Given the description of an element on the screen output the (x, y) to click on. 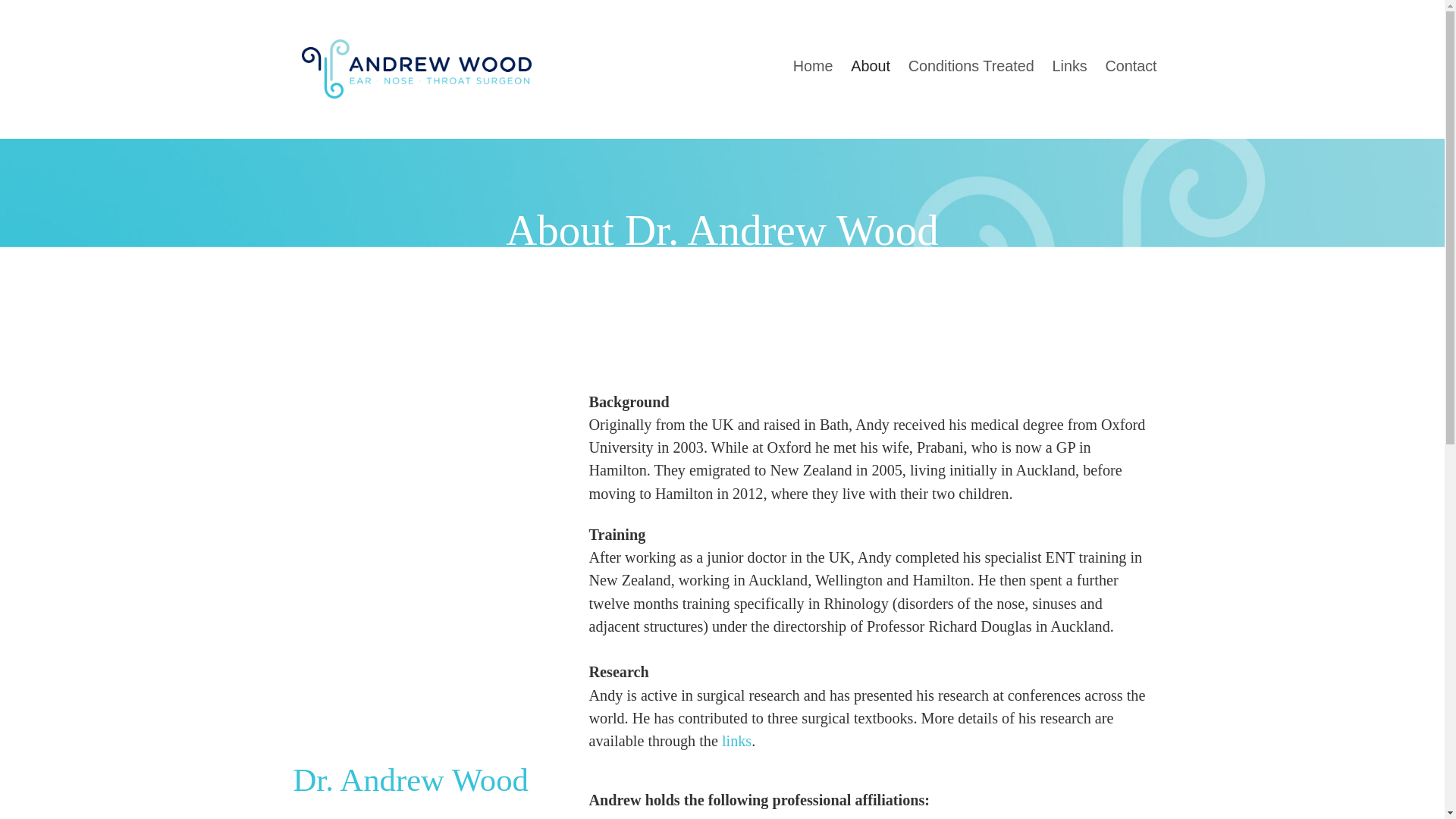
Conditions Treated (971, 66)
Contact (1131, 66)
About (869, 66)
Home (813, 66)
links (736, 740)
Links (1069, 66)
